Given the description of an element on the screen output the (x, y) to click on. 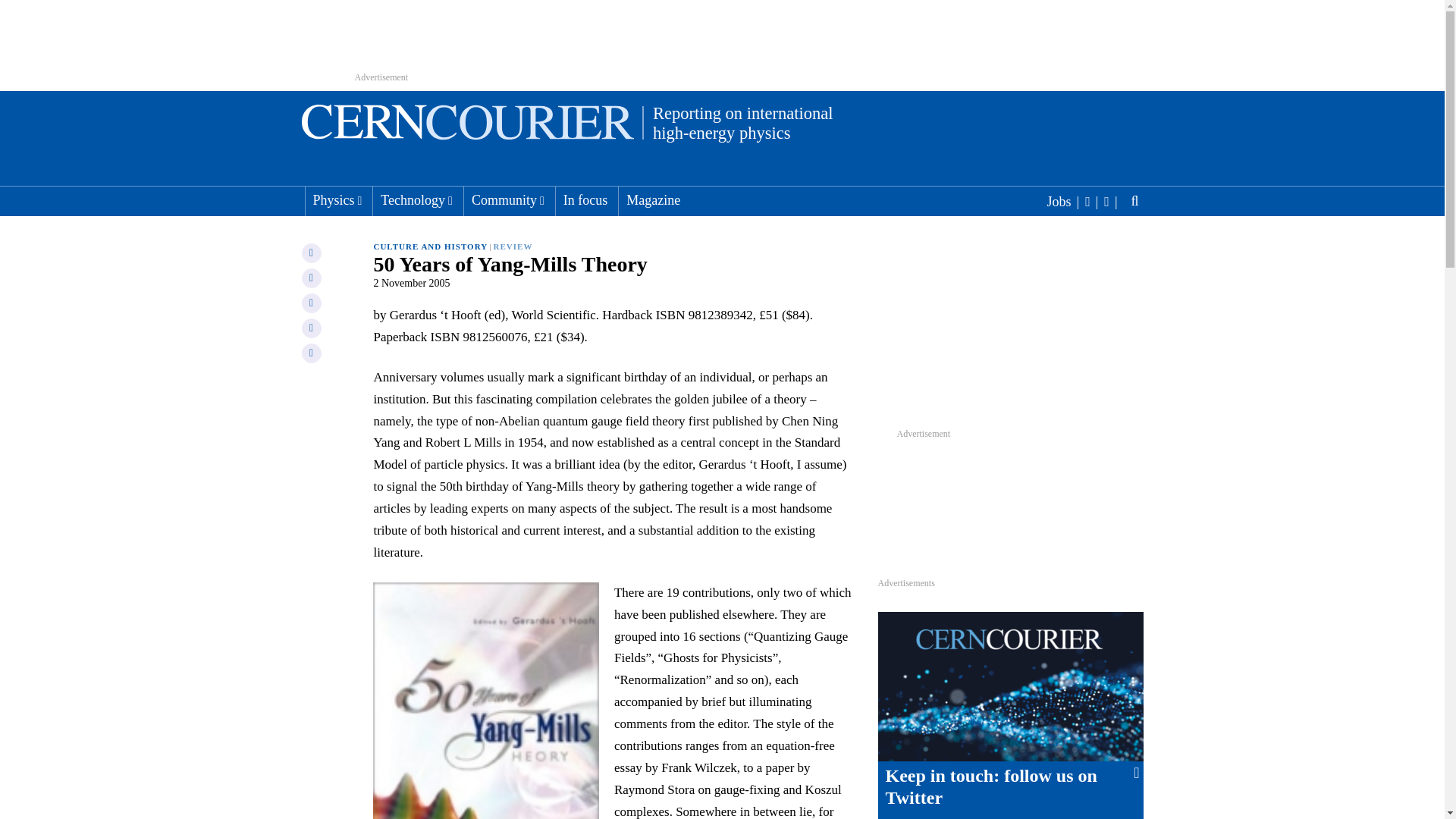
3rd party ad content (1079, 494)
Physics (336, 201)
3rd party ad content (722, 38)
Jobs (1064, 200)
3rd party ad content (1079, 555)
3rd party ad content (1010, 333)
3rd party ad content (939, 494)
Technology (416, 201)
Magazine (652, 201)
3rd party ad content (937, 555)
Community (507, 201)
In focus (585, 201)
